Given the description of an element on the screen output the (x, y) to click on. 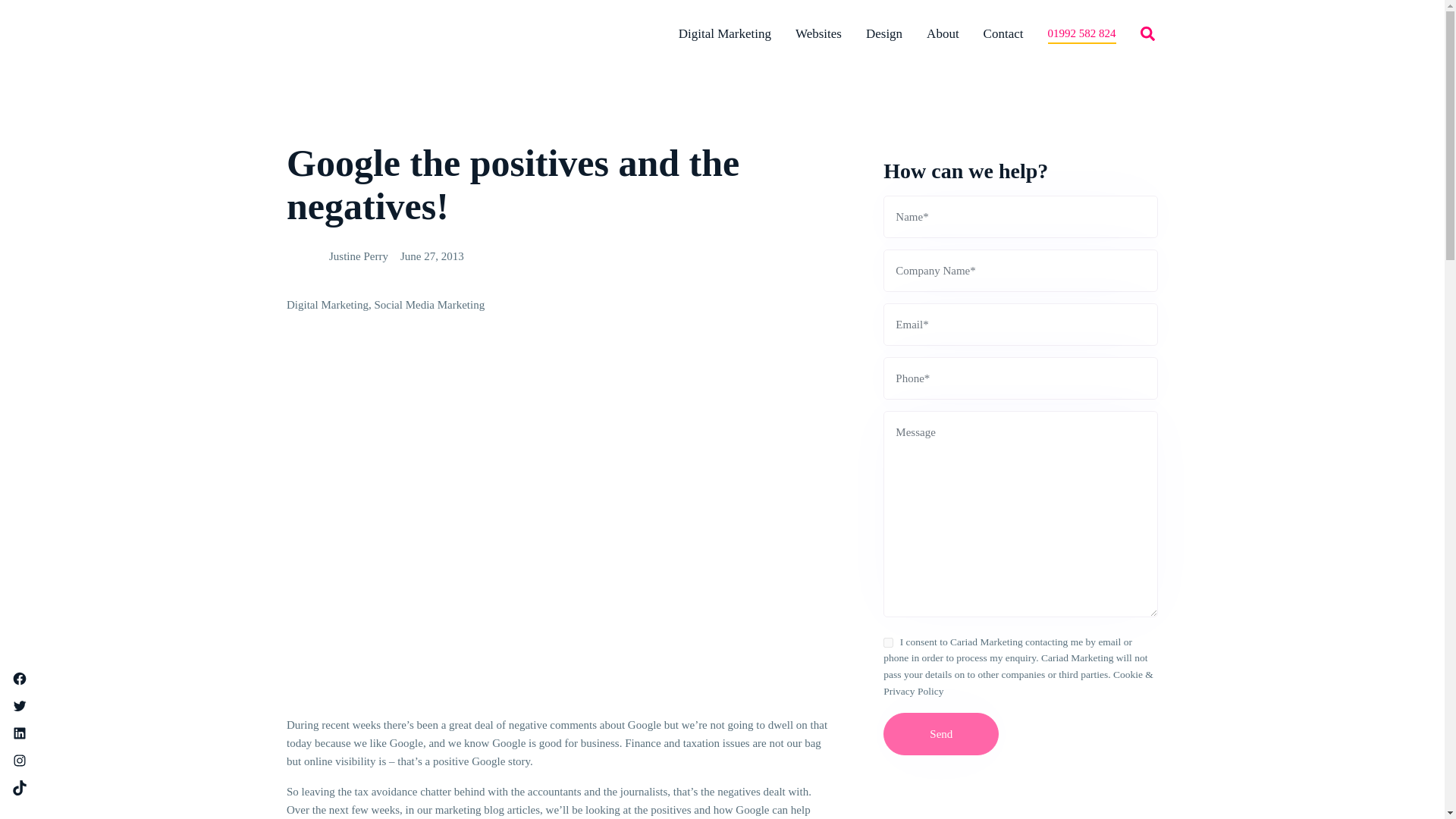
About Cariad Marketing Agency in Hertfordshire (942, 33)
Send (940, 733)
About (942, 33)
Design (884, 33)
Social Media Marketing (429, 304)
Digital Marketing (327, 304)
Contact (1003, 33)
Digital Marketing (724, 33)
Digital Marketing Services (724, 33)
1 (888, 642)
Websites (817, 33)
Contact Cariad Marketing (1003, 33)
01992 582 824 (1082, 33)
